Given the description of an element on the screen output the (x, y) to click on. 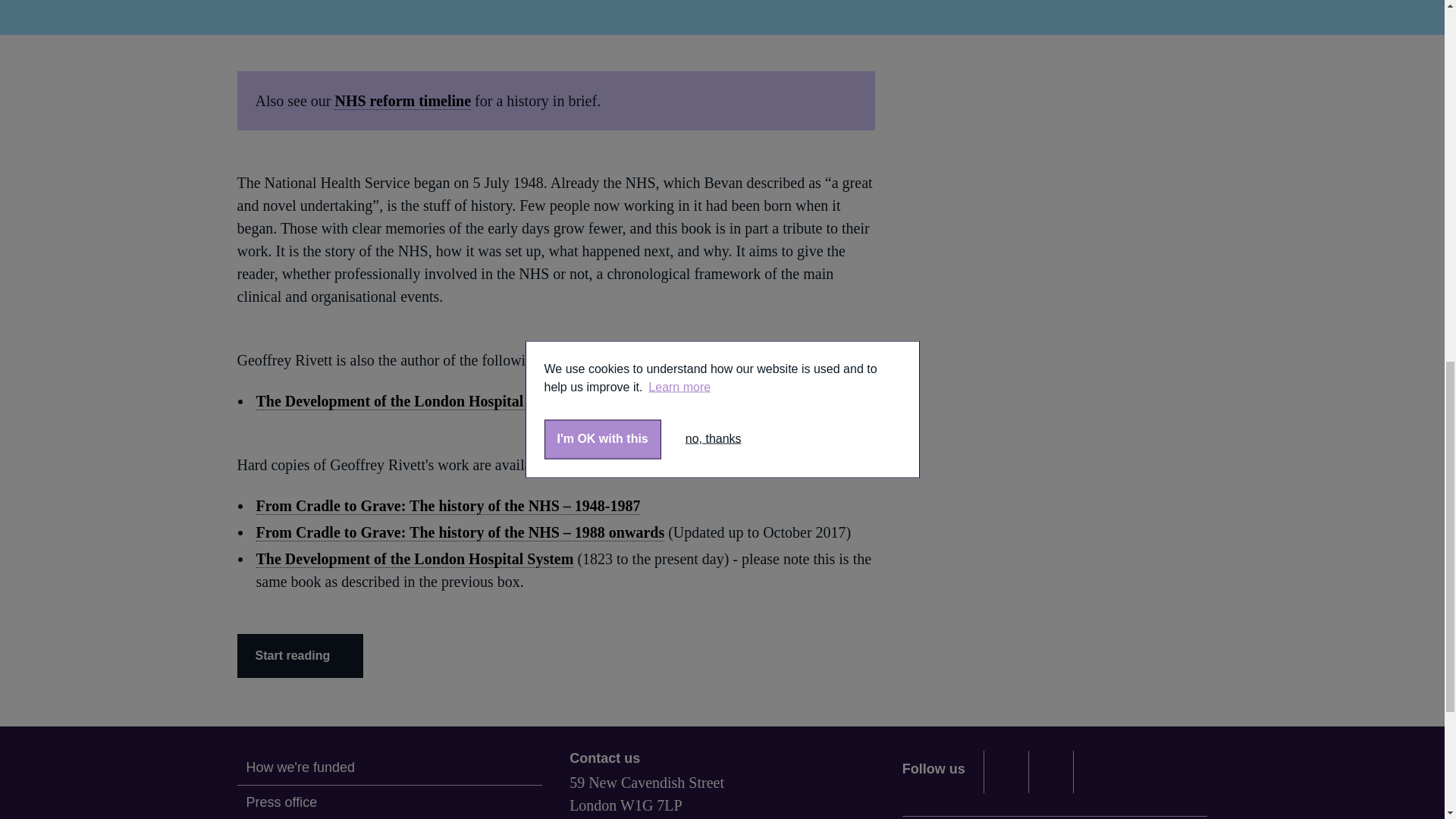
Go to the Nuffield Trust's LinkedIn profile (1051, 772)
